Given the description of an element on the screen output the (x, y) to click on. 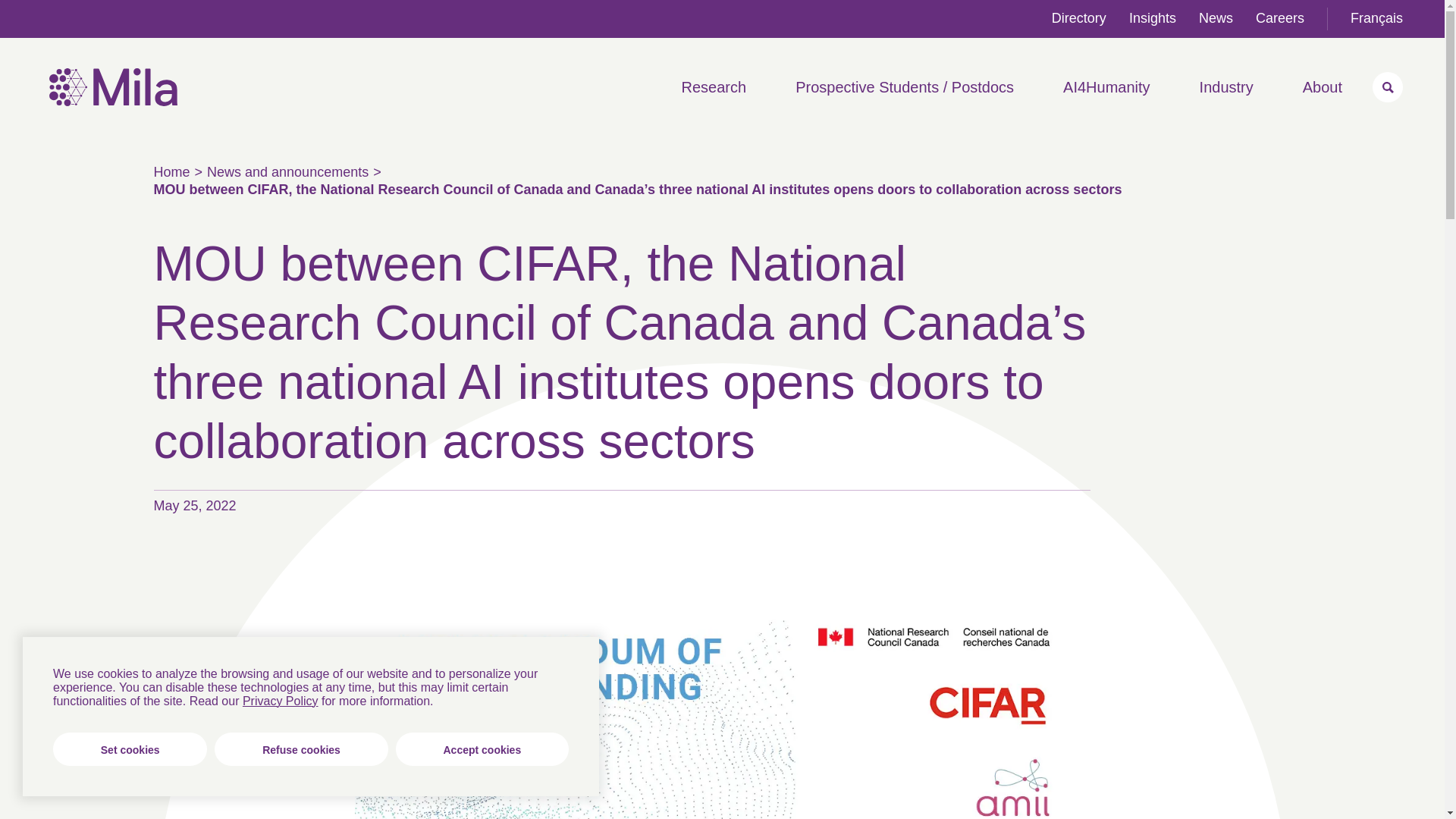
Research (713, 86)
Directory (1078, 17)
Home (113, 101)
Careers (1279, 17)
News (1215, 17)
Insights (1152, 17)
